Given the description of an element on the screen output the (x, y) to click on. 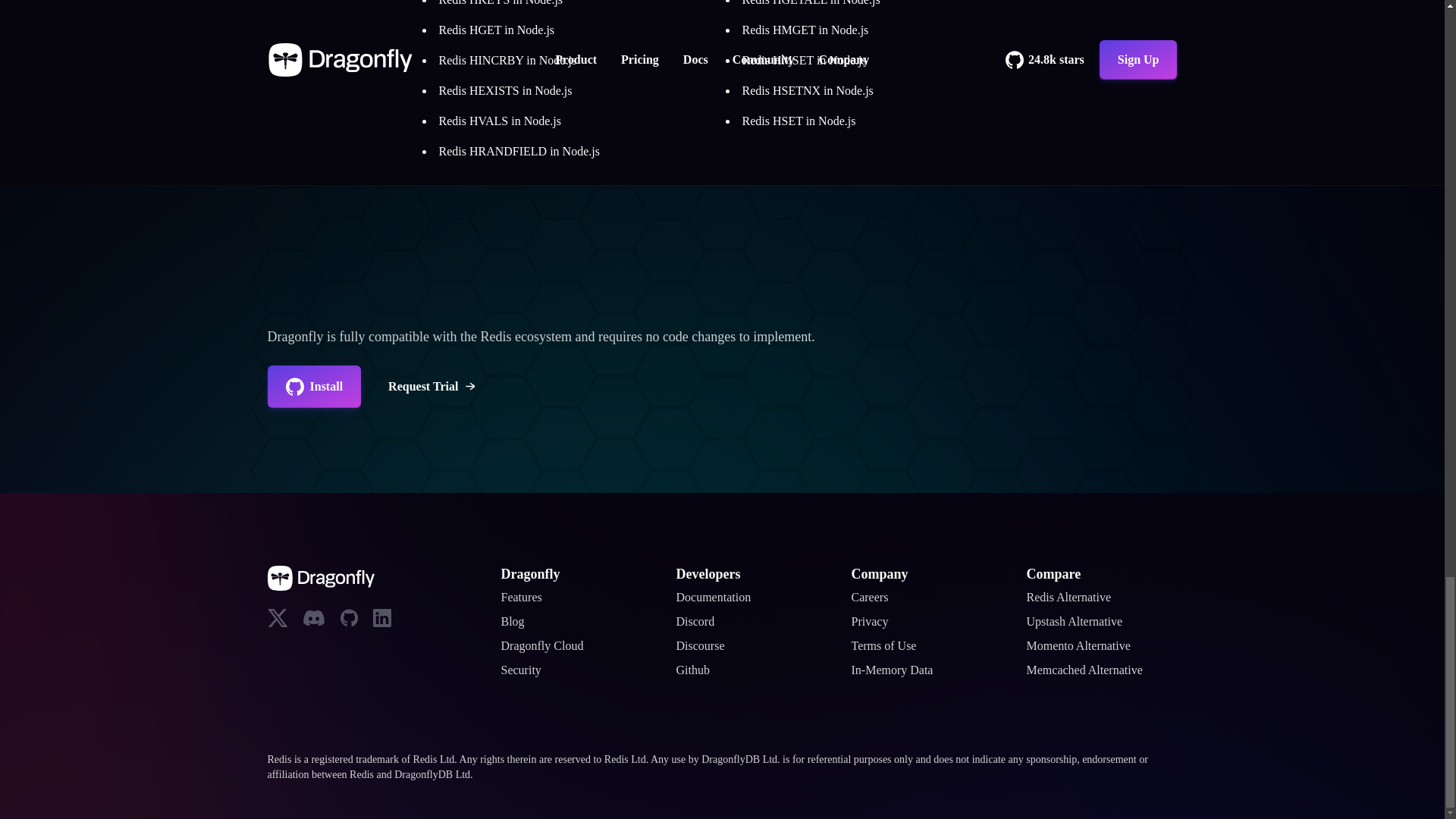
Redis HMGET in Node.js (804, 29)
Redis HKEYS in Node.js (500, 2)
Redis HEXISTS in Node.js (505, 90)
Redis HGET in Node.js (496, 29)
Redis HMSET in Node.js (803, 60)
Redis HGETALL in Node.js (810, 2)
Redis HINCRBY in Node.js (507, 60)
